Given the description of an element on the screen output the (x, y) to click on. 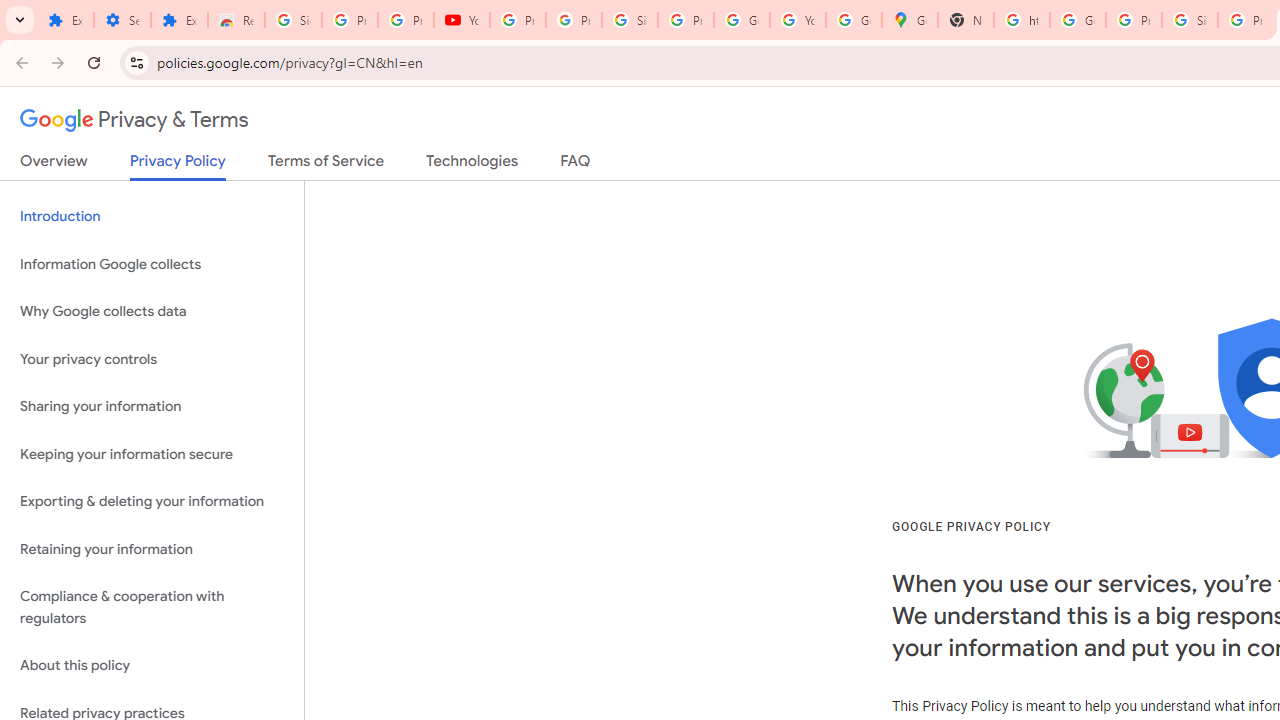
Reviews: Helix Fruit Jump Arcade Game (235, 20)
Extensions (179, 20)
https://scholar.google.com/ (1021, 20)
